Given the description of an element on the screen output the (x, y) to click on. 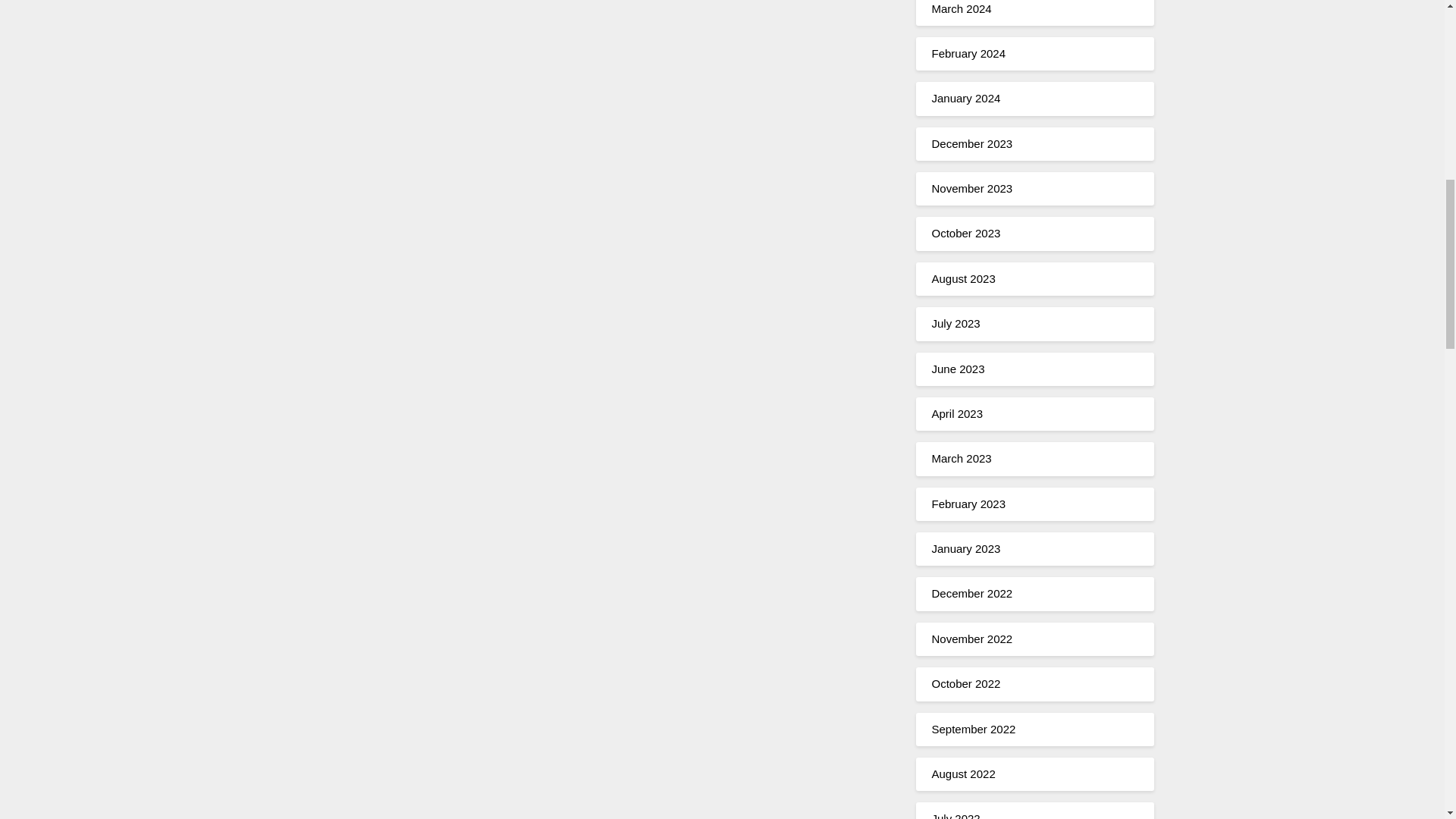
February 2024 (968, 52)
June 2023 (957, 368)
October 2023 (965, 232)
July 2023 (955, 323)
February 2023 (968, 503)
November 2023 (971, 187)
December 2023 (971, 143)
January 2023 (965, 548)
March 2023 (961, 458)
April 2023 (956, 413)
November 2022 (971, 638)
August 2023 (962, 278)
March 2024 (961, 7)
January 2024 (965, 97)
December 2022 (971, 593)
